Given the description of an element on the screen output the (x, y) to click on. 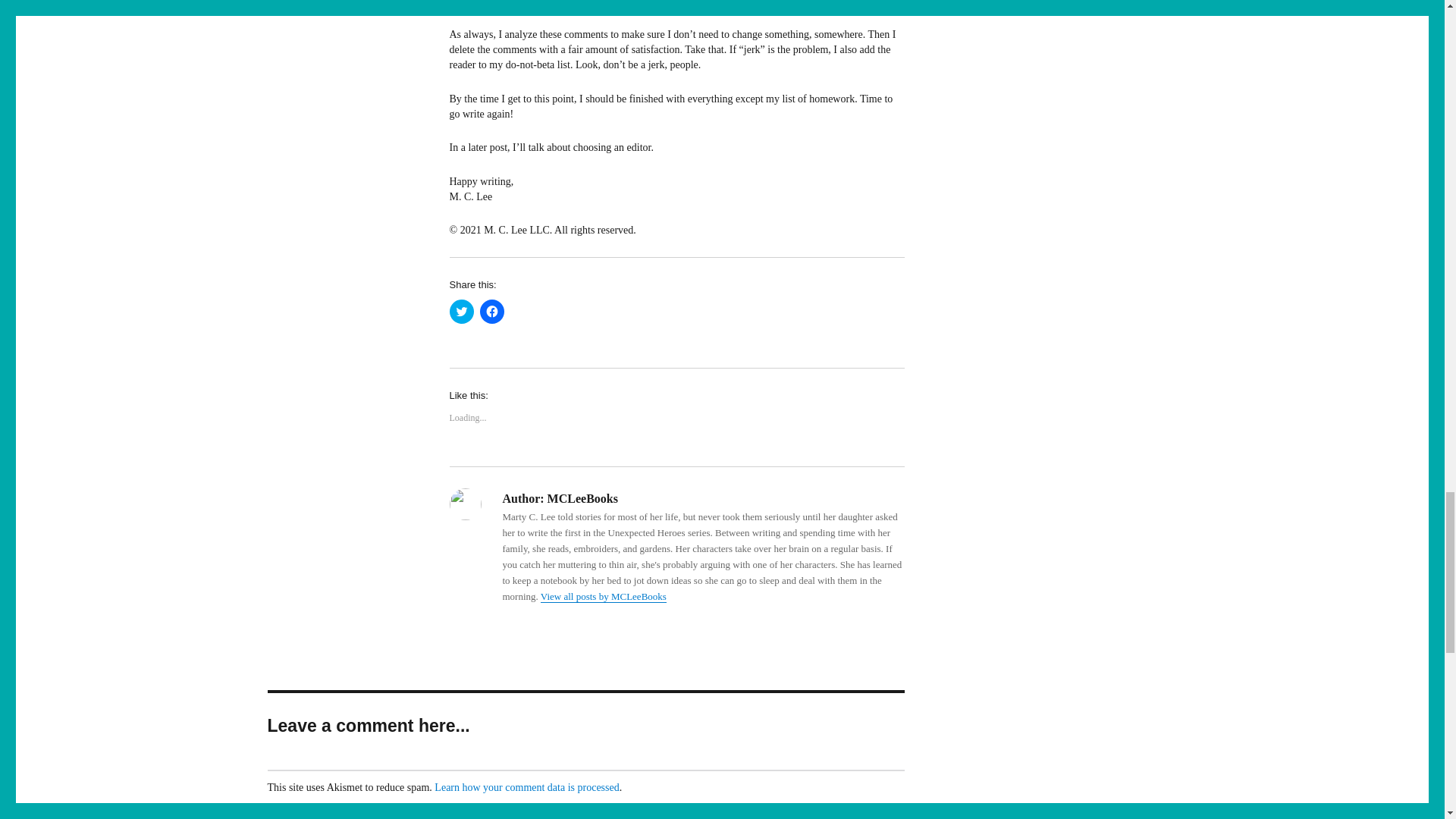
Learn how your comment data is processed (525, 787)
Click to share on Facebook (491, 311)
View all posts by MCLeeBooks (603, 595)
Click to share on Twitter (460, 311)
